Given the description of an element on the screen output the (x, y) to click on. 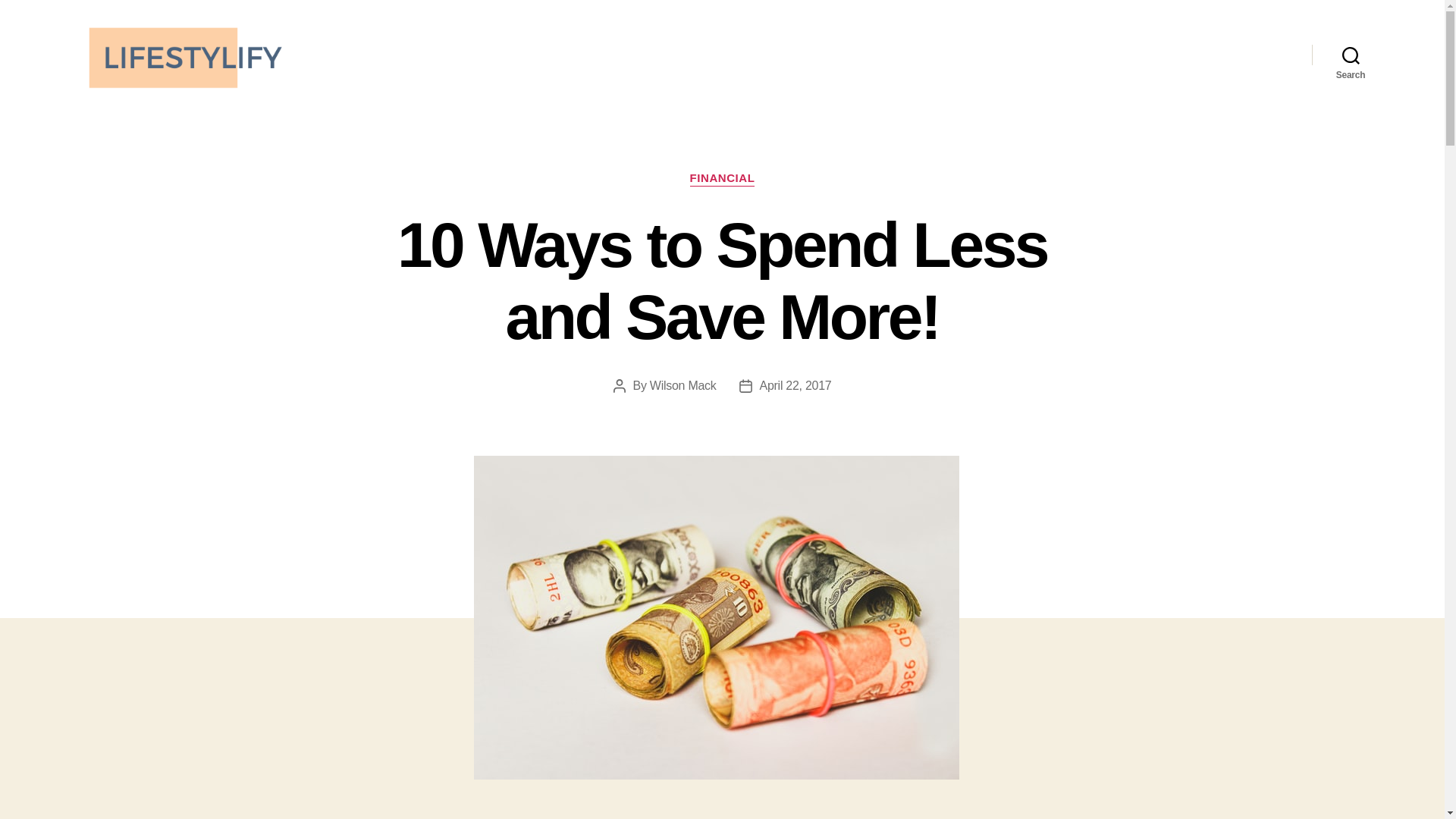
FINANCIAL (722, 178)
Wilson Mack (682, 385)
April 22, 2017 (795, 385)
Search (1350, 55)
